Given the description of an element on the screen output the (x, y) to click on. 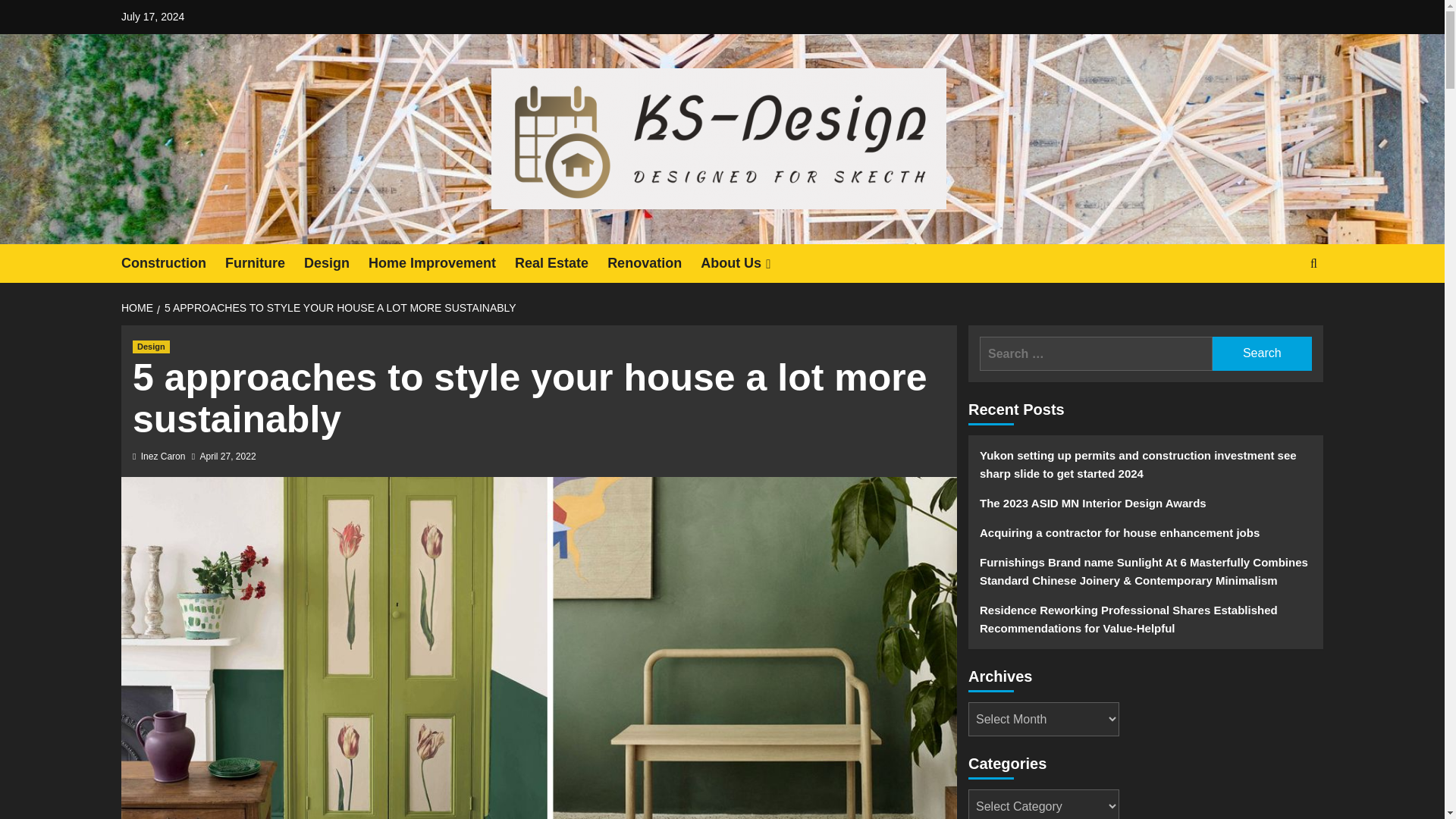
About Us (746, 263)
Inez Caron (163, 456)
Search (1261, 353)
April 27, 2022 (228, 456)
HOME (138, 307)
5 APPROACHES TO STYLE YOUR HOUSE A LOT MORE SUSTAINABLY (338, 307)
Search (1261, 353)
Renovation (653, 263)
Design (151, 346)
Search (1278, 309)
Design (336, 263)
Home Improvement (441, 263)
Furniture (264, 263)
Construction (172, 263)
